Given the description of an element on the screen output the (x, y) to click on. 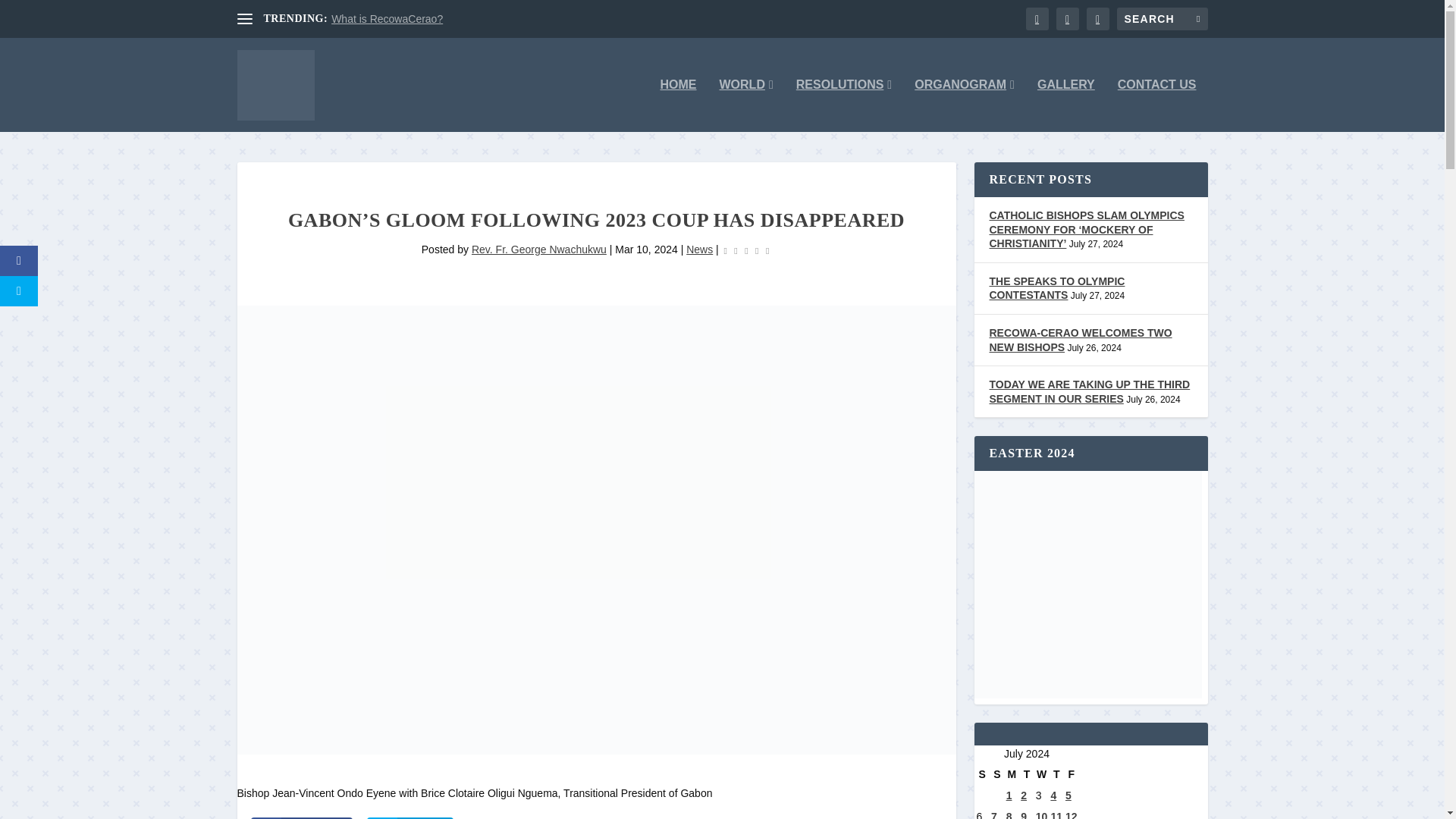
twitter (409, 818)
WORLD (746, 104)
CONTACT US (1157, 104)
What is RecowaCerao? (386, 19)
Rev. Fr. George Nwachukwu (539, 249)
GALLERY (1065, 104)
News (699, 249)
facebook (301, 818)
Rating: 0.00 (746, 250)
RESOLUTIONS (843, 104)
Posts by Rev. Fr. George Nwachukwu (539, 249)
ORGANOGRAM (964, 104)
Search for: (1161, 18)
